Given the description of an element on the screen output the (x, y) to click on. 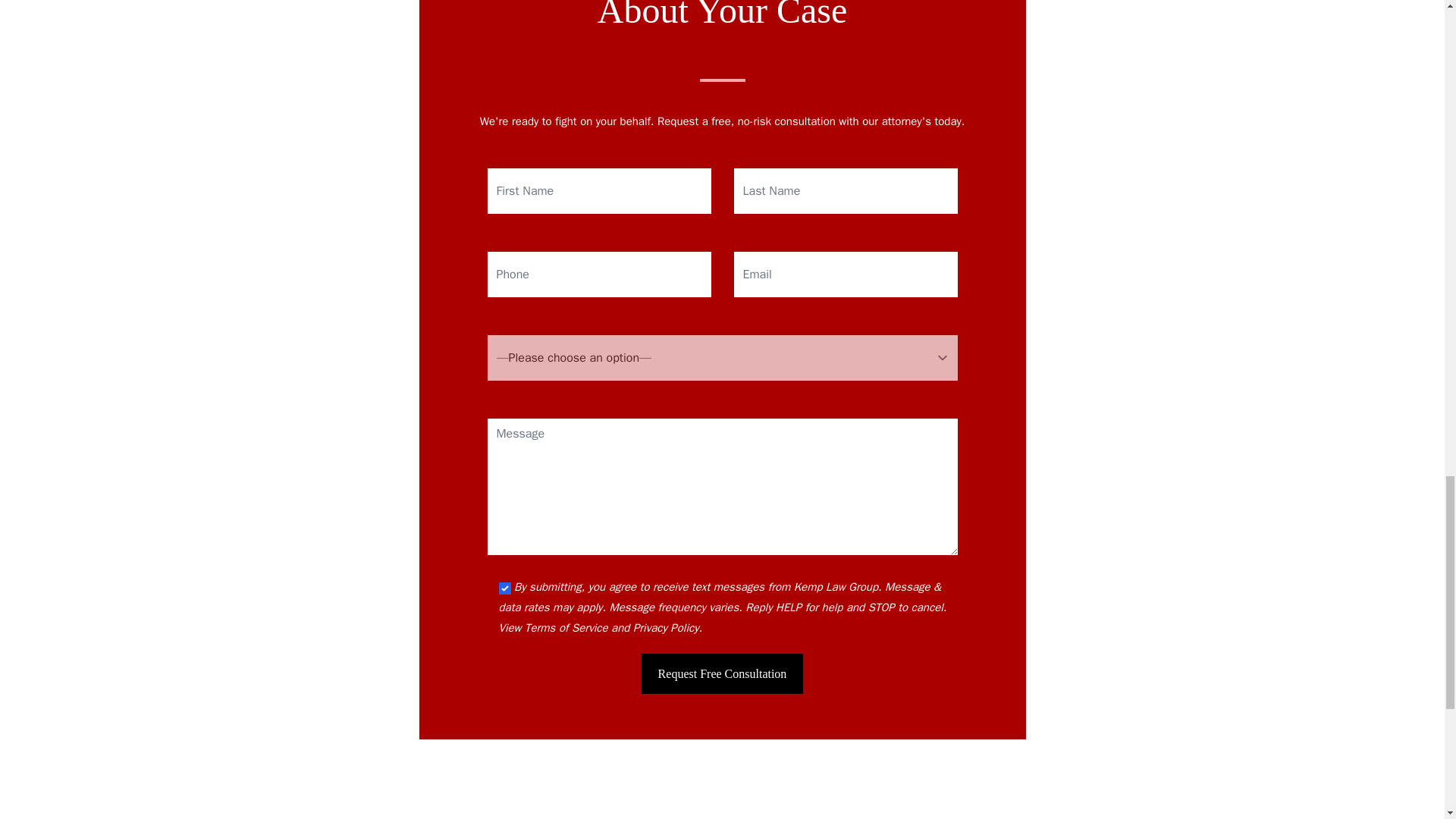
1 (505, 588)
Request Free Consultation (722, 673)
